Given the description of an element on the screen output the (x, y) to click on. 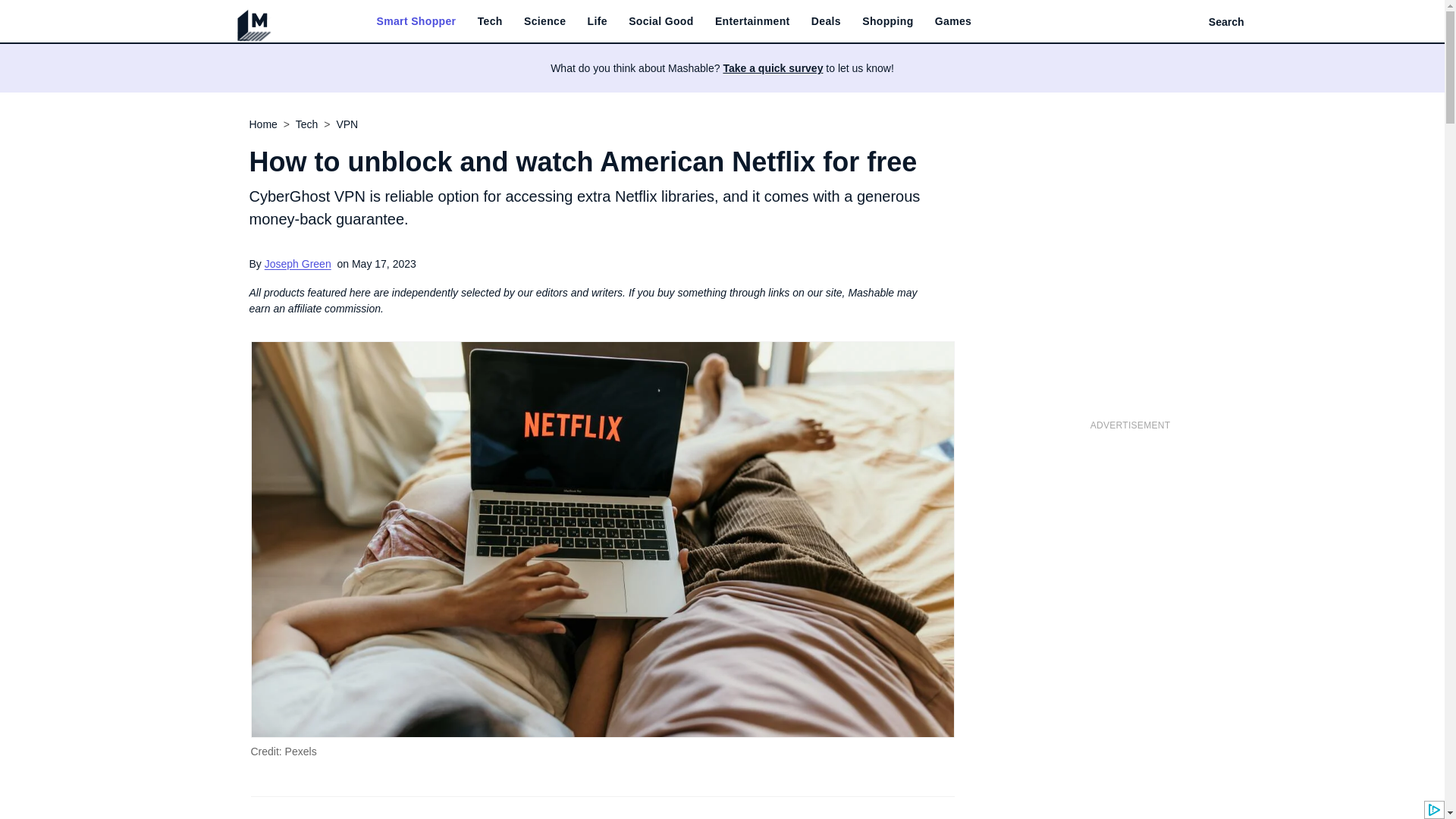
Deals (825, 21)
Life (597, 21)
Entertainment (752, 21)
Tech (489, 21)
Science (545, 21)
Smart Shopper (415, 21)
Games (952, 21)
Social Good (661, 21)
Shopping (886, 21)
